Given the description of an element on the screen output the (x, y) to click on. 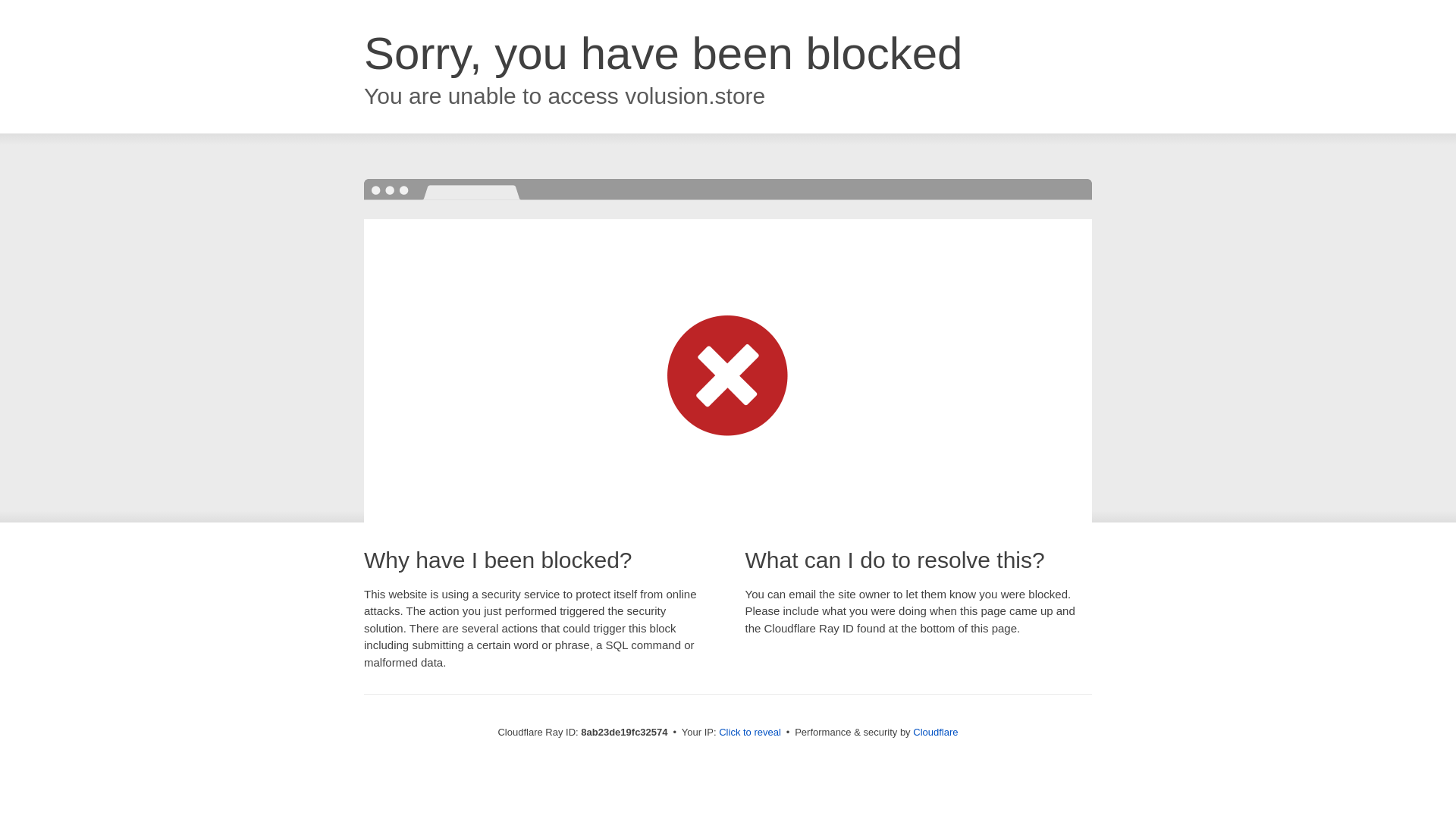
Click to reveal (749, 732)
Cloudflare (935, 731)
